Given the description of an element on the screen output the (x, y) to click on. 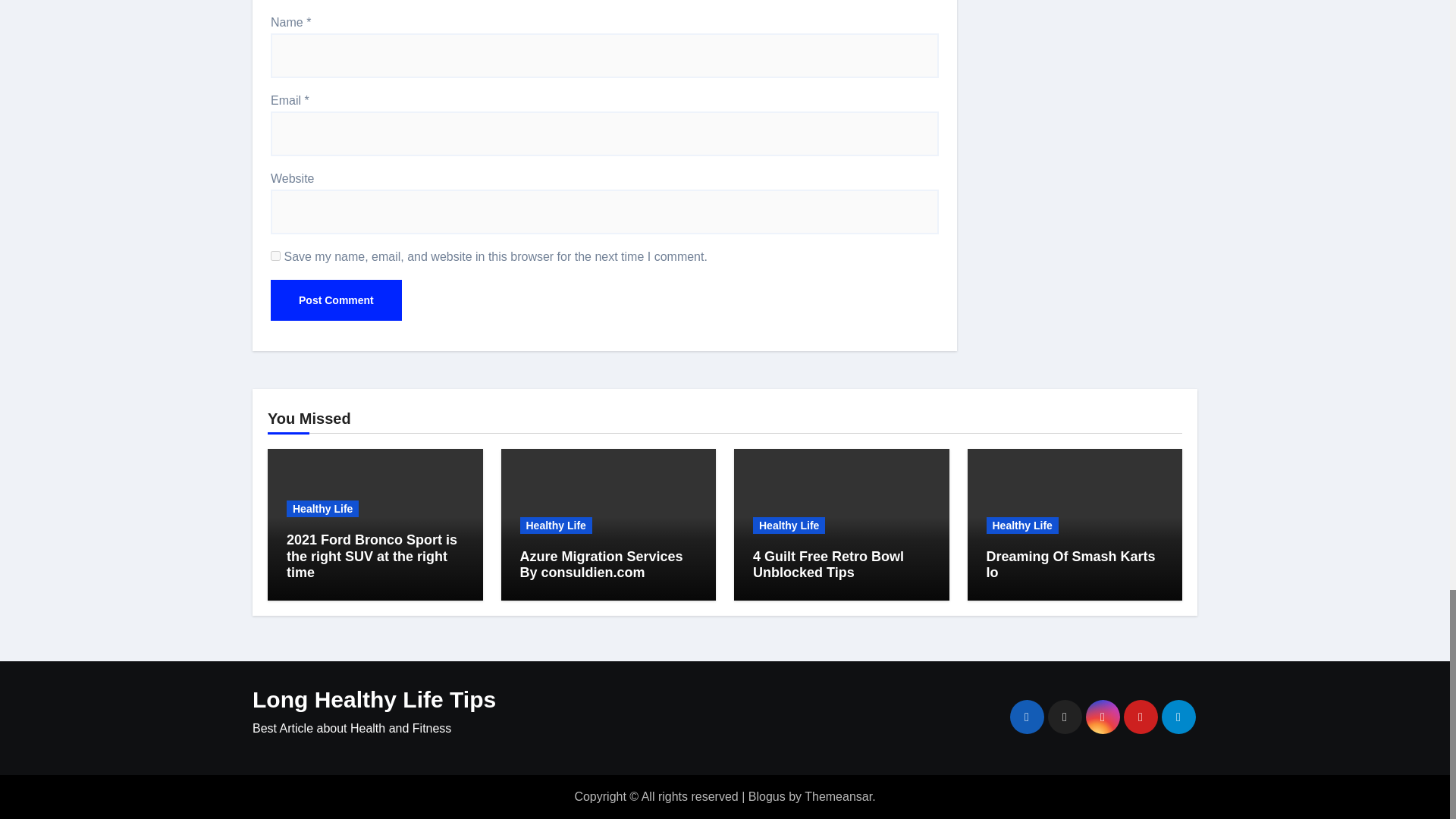
Permalink to: Azure Migration Services By consuldien.com (600, 564)
yes (275, 255)
Permalink to: Dreaming Of Smash Karts Io (1069, 564)
Post Comment (335, 300)
Permalink to: 4 Guilt Free Retro Bowl Unblocked Tips (828, 564)
